Given the description of an element on the screen output the (x, y) to click on. 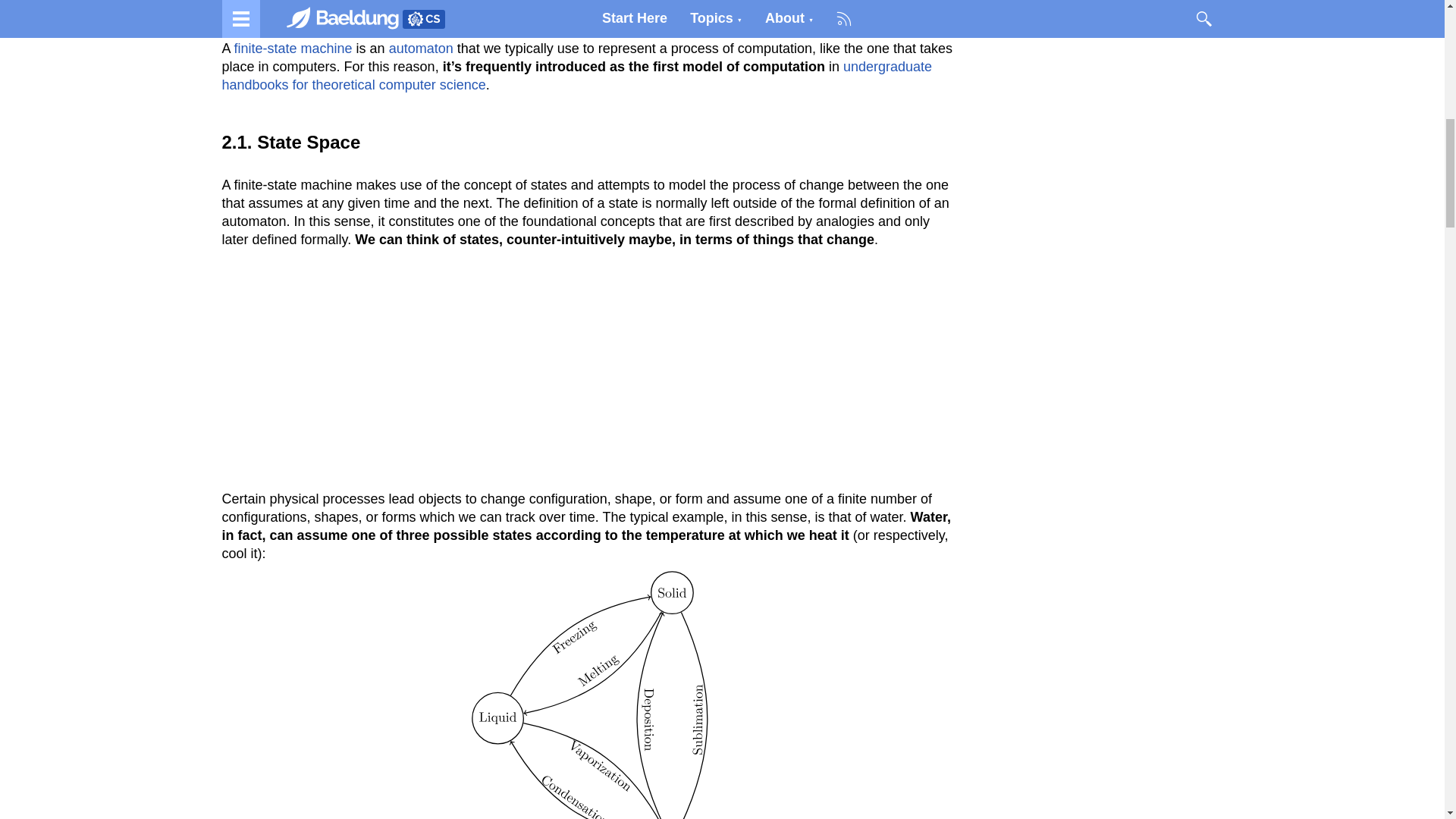
Rendered by QuickLaTeX.com (588, 694)
automaton (422, 48)
finite-state machine (293, 48)
undergraduate handbooks for theoretical computer science (576, 75)
